Given the description of an element on the screen output the (x, y) to click on. 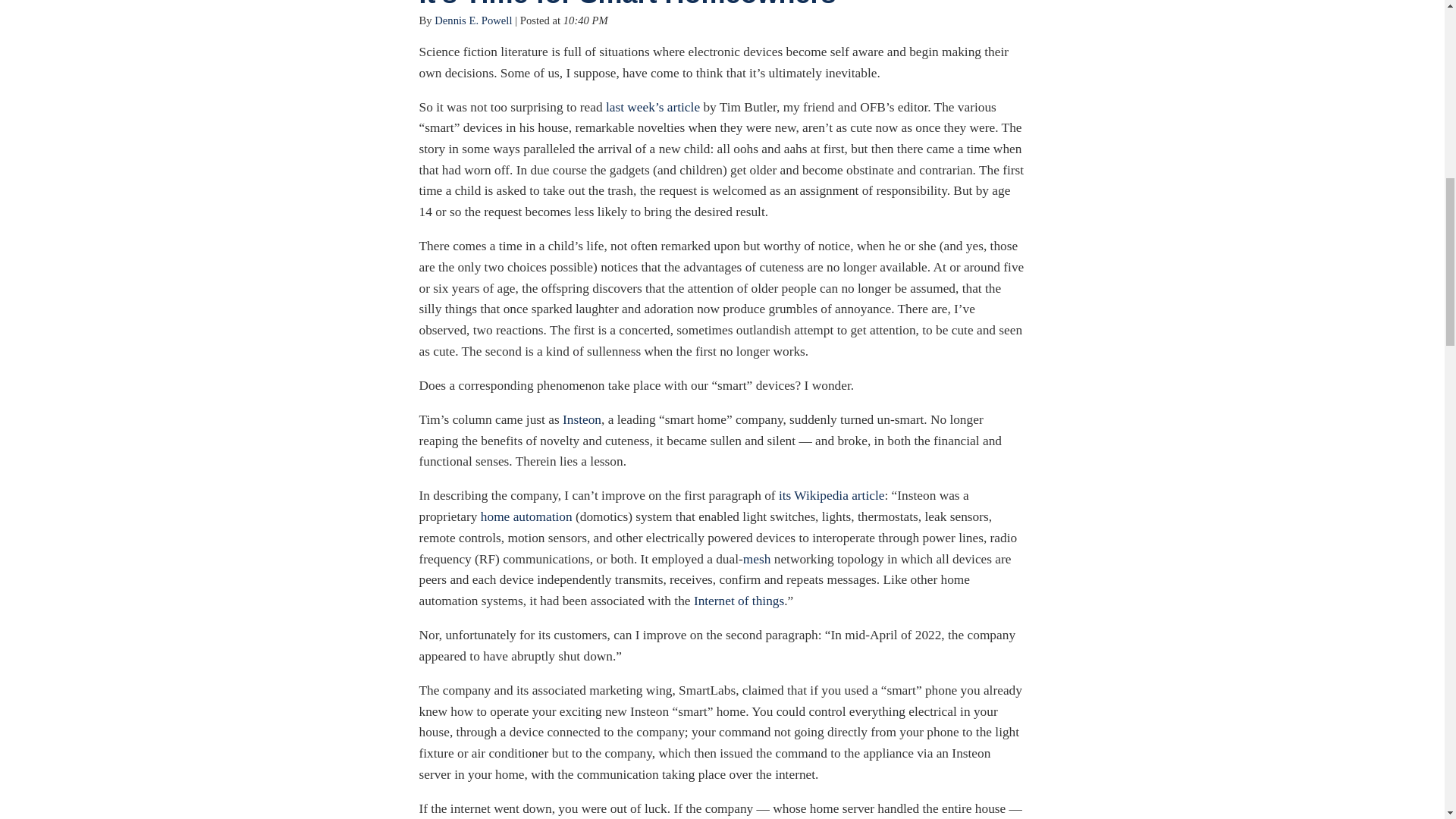
Internet of things (739, 600)
Insteon (581, 419)
home automation (526, 516)
Dennis E. Powell (472, 20)
It's Time for Smart Homeowners (627, 4)
its Wikipedia article (831, 495)
mesh (756, 559)
